Given the description of an element on the screen output the (x, y) to click on. 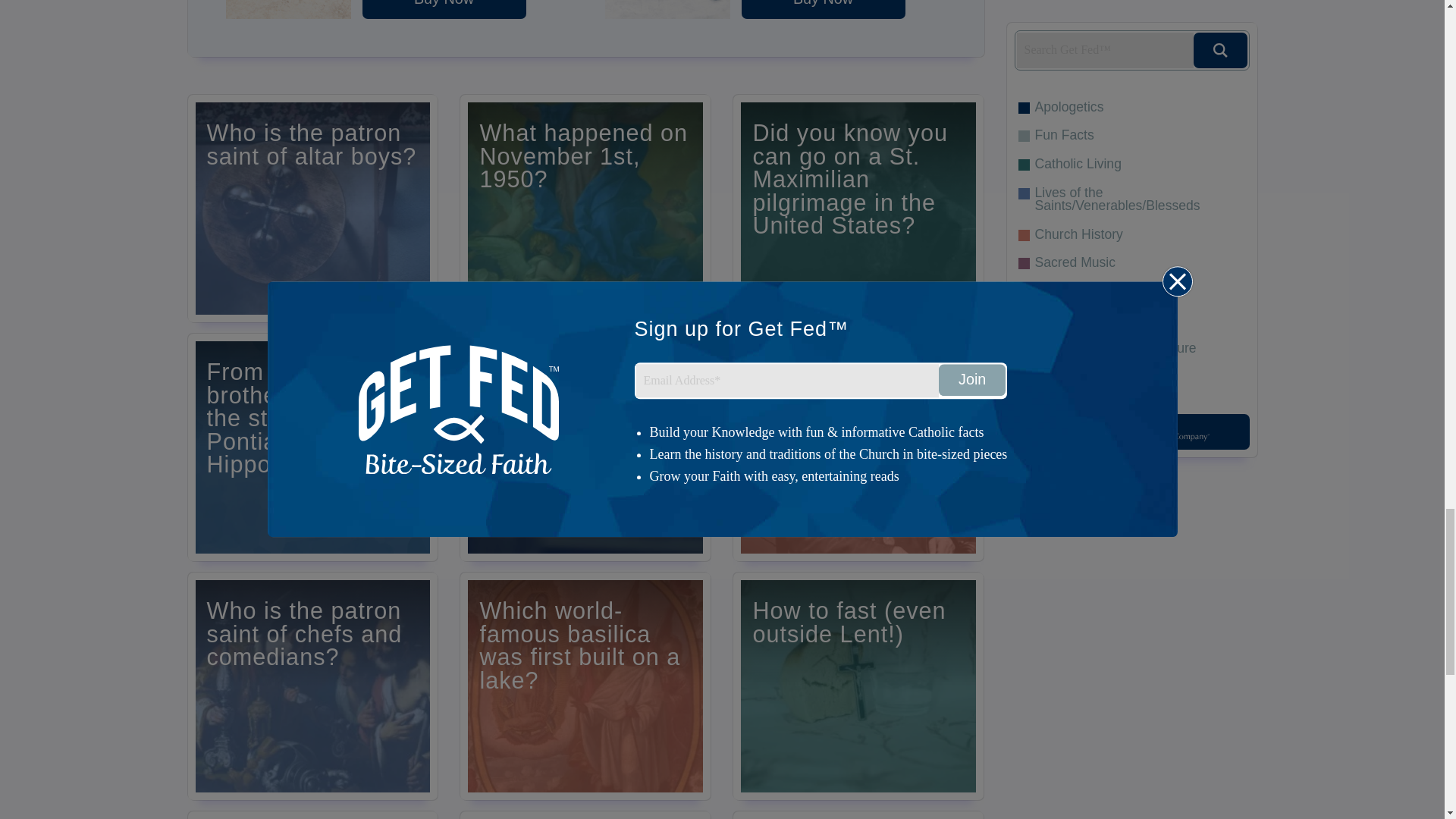
What happened on November 1st, 1950? (585, 208)
Buy Now (823, 9)
Which world-famous basilica was first built on a lake? (585, 686)
Who is the patron saint of altar boys? (312, 208)
Do Catholics worship statues? (312, 815)
Buy Now (443, 9)
Who is the patron saint of altar boys? (312, 208)
Who is the patron saint of chefs and comedians? (312, 686)
Manual for Marian Devotion (823, 9)
